Given the description of an element on the screen output the (x, y) to click on. 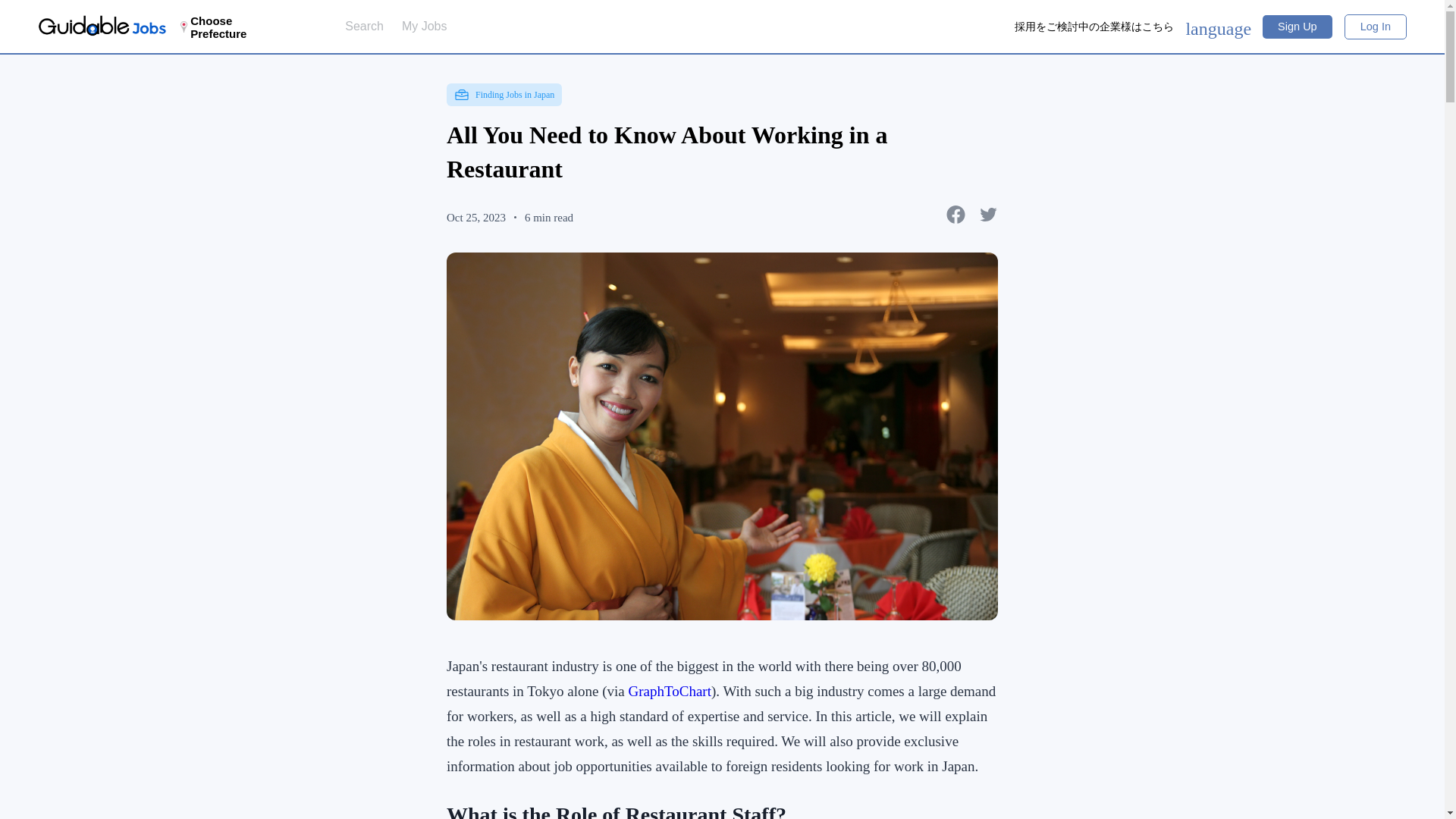
Log In (1374, 25)
Choose Prefecture (236, 27)
GraphToChart (668, 690)
My Jobs (423, 26)
Sign Up (1297, 26)
Search (364, 26)
Finding Jobs in Japan (504, 94)
